Given the description of an element on the screen output the (x, y) to click on. 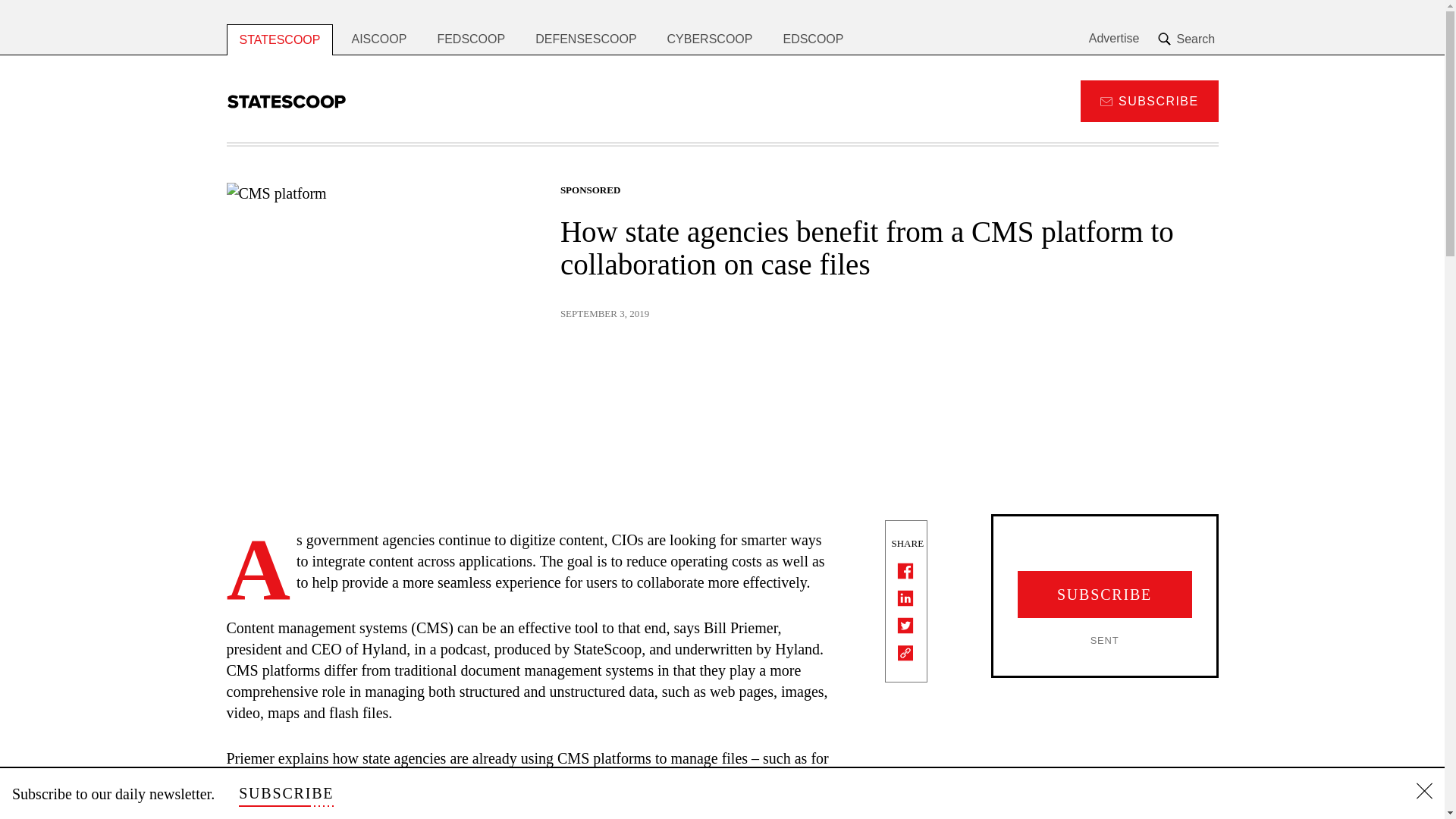
FEDSCOOP (470, 39)
EDSCOOP (813, 39)
Search (1187, 38)
SUBSCRIBE (1148, 101)
DEFENSESCOOP (584, 39)
Advertise (1114, 38)
STATESCOOP (279, 39)
CYBERSCOOP (710, 39)
SUBSCRIBE (285, 793)
